Given the description of an element on the screen output the (x, y) to click on. 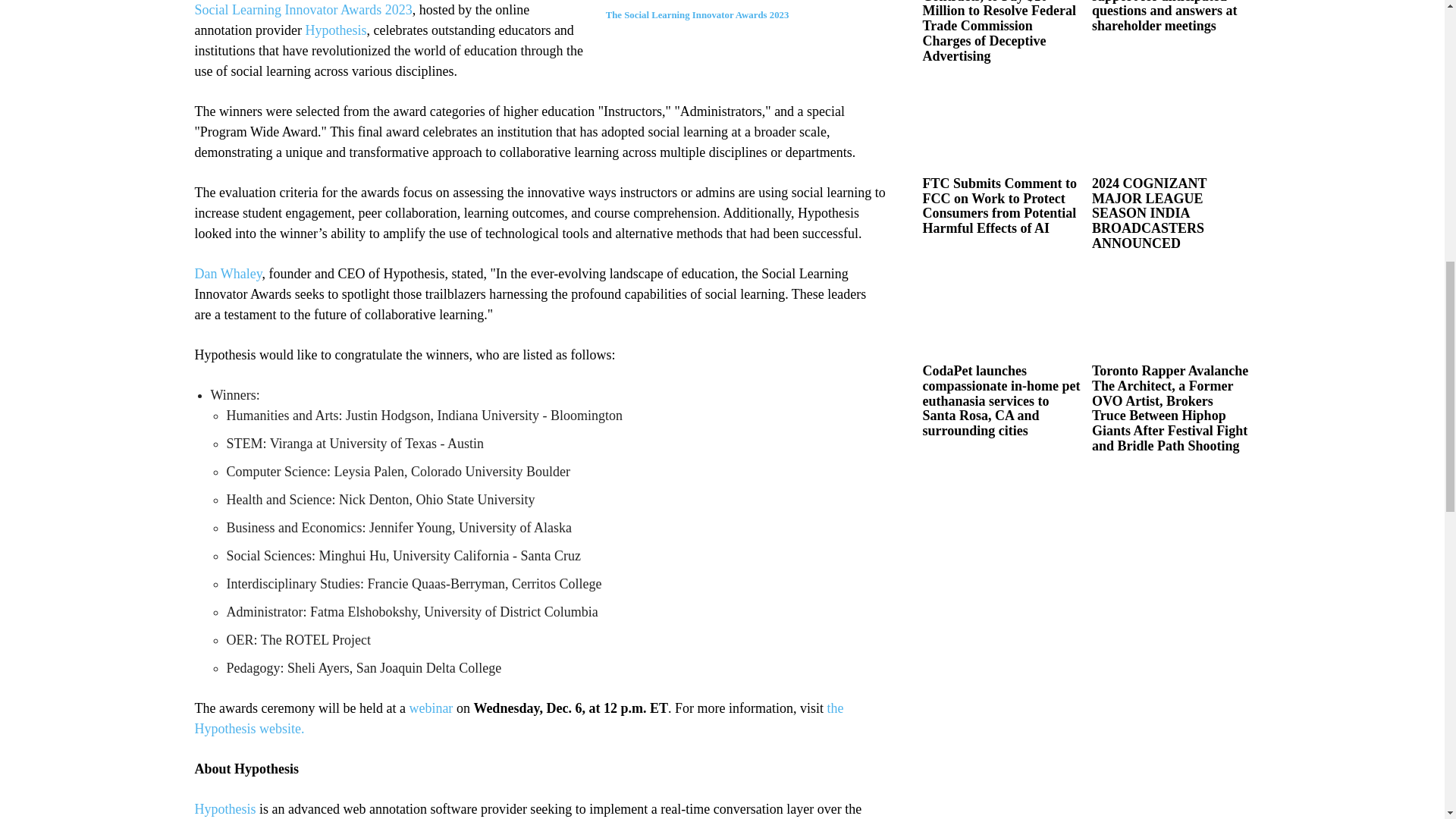
Hypothesis (224, 808)
The Social Learning Innovator Awards 2023 (373, 8)
Dan Whaley (227, 273)
the Hypothesis website. (518, 718)
The Social Learning Innovator Awards 2023 (697, 23)
Hypothesis (335, 29)
webinar (430, 708)
